Given the description of an element on the screen output the (x, y) to click on. 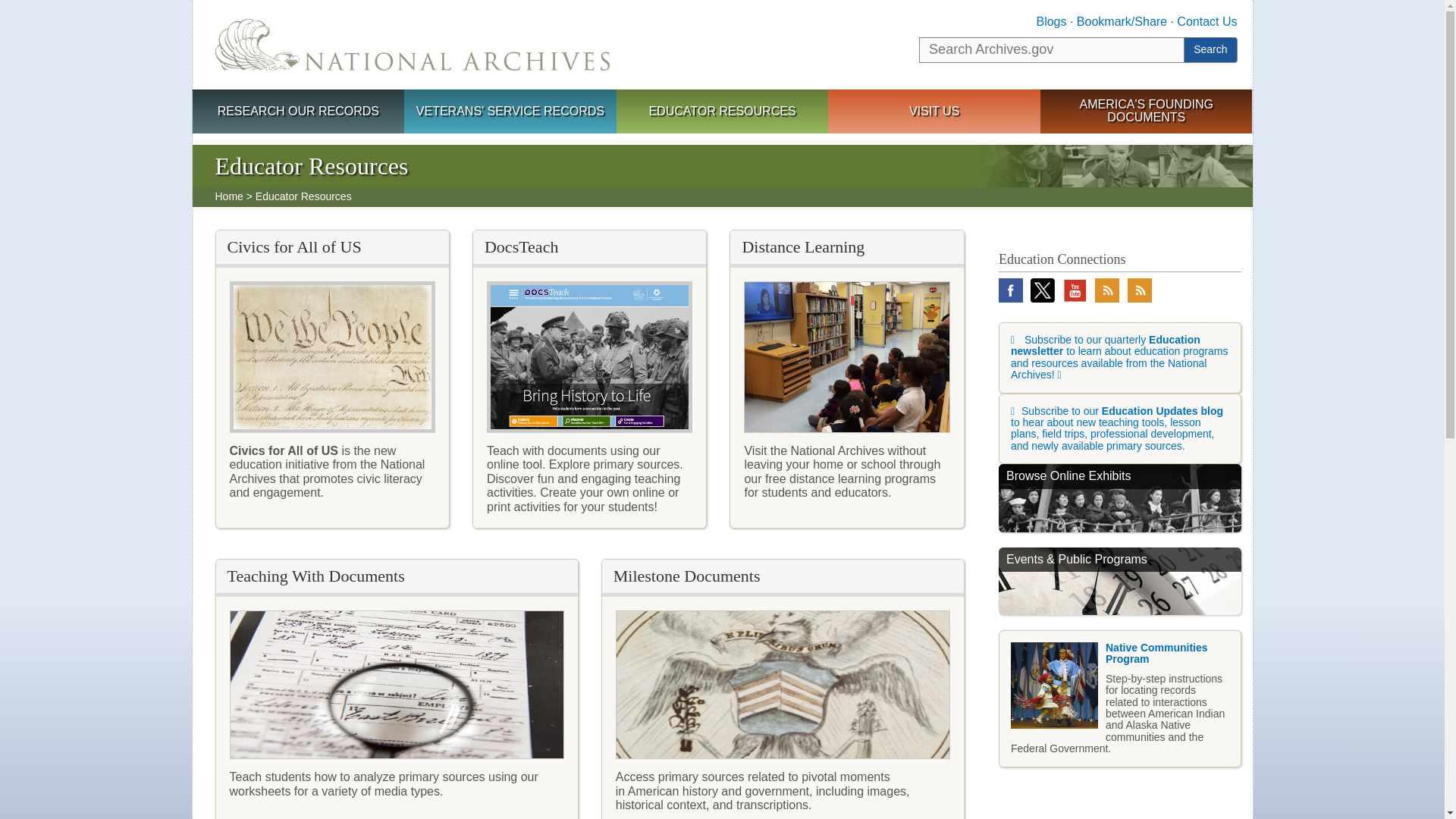
RESEARCH OUR RECORDS (298, 111)
AMERICA'S FOUNDING DOCUMENTS (1146, 111)
RSS (1138, 290)
The U.S. National Archives Home (412, 44)
Search Archives.gov (1051, 49)
VISIT US (934, 111)
Blogs (1050, 21)
